Given the description of an element on the screen output the (x, y) to click on. 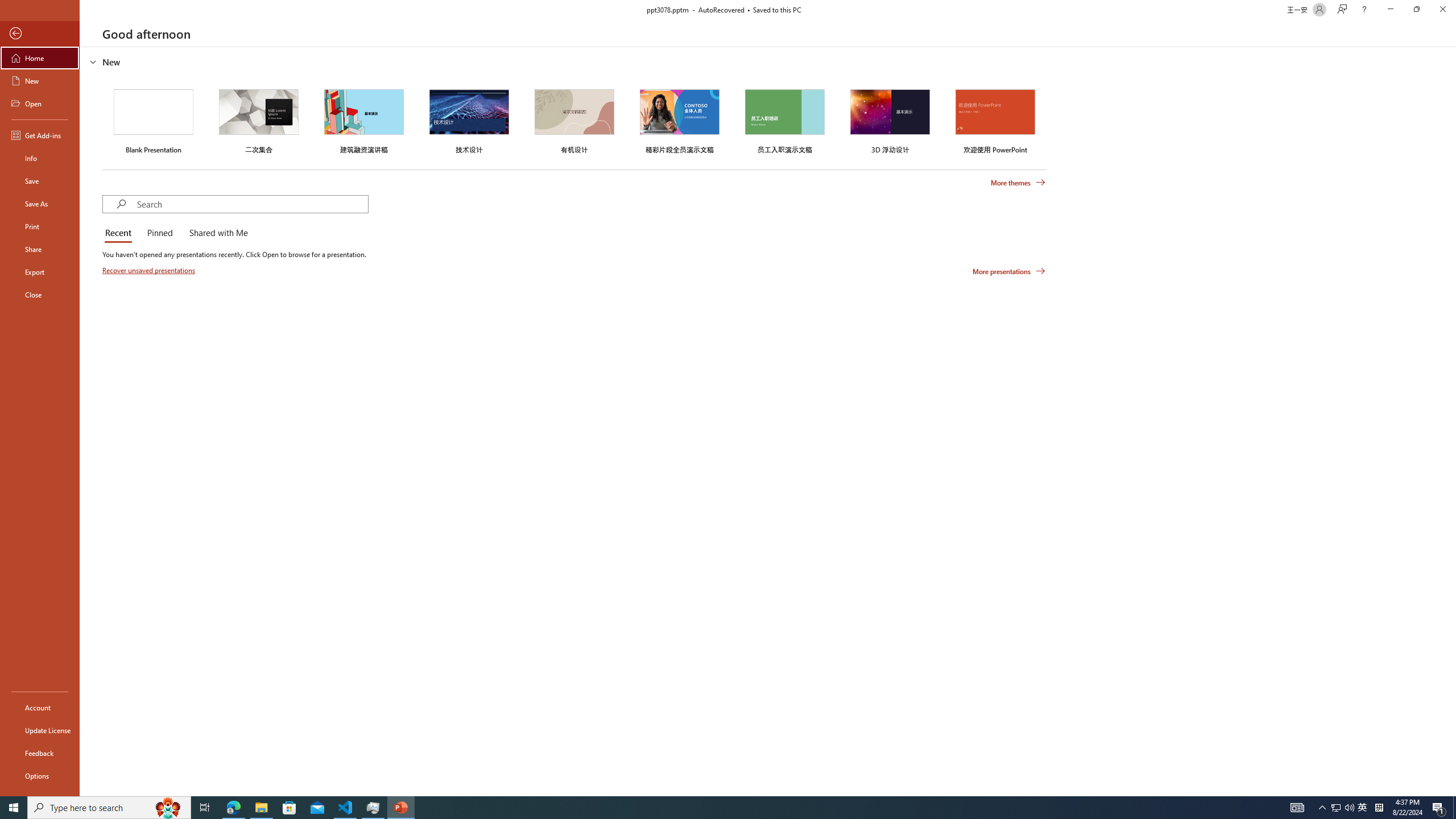
Get Add-ins (40, 134)
Class: NetUIScrollBar (1450, 421)
Hide or show region (92, 61)
Save As (40, 203)
Pinned (159, 233)
More themes (1018, 182)
Recent (119, 233)
